Given the description of an element on the screen output the (x, y) to click on. 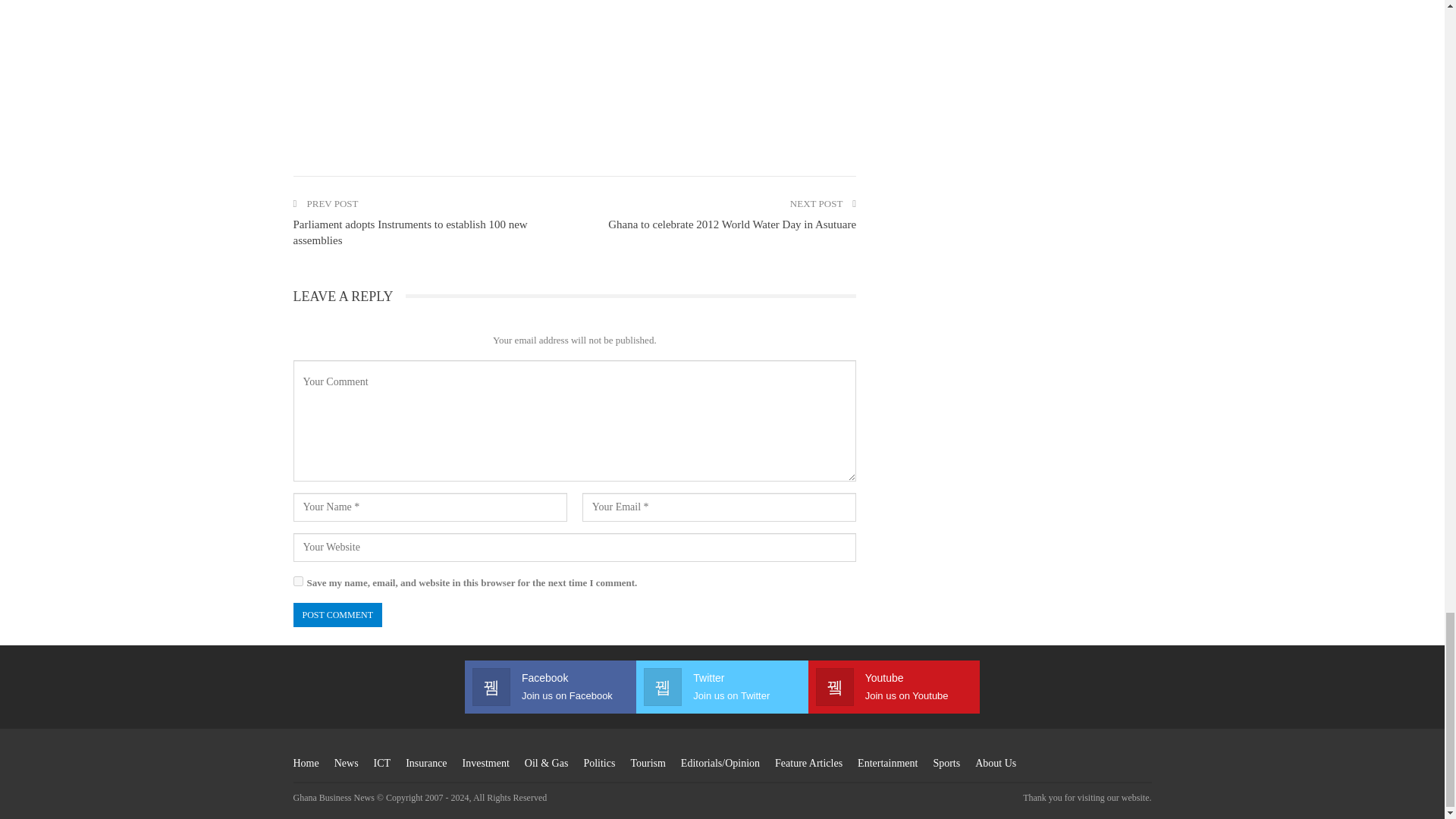
Post Comment (336, 615)
Ghana to celebrate 2012 World Water Day in Asutuare (732, 224)
Post Comment (336, 615)
yes (297, 581)
